Given the description of an element on the screen output the (x, y) to click on. 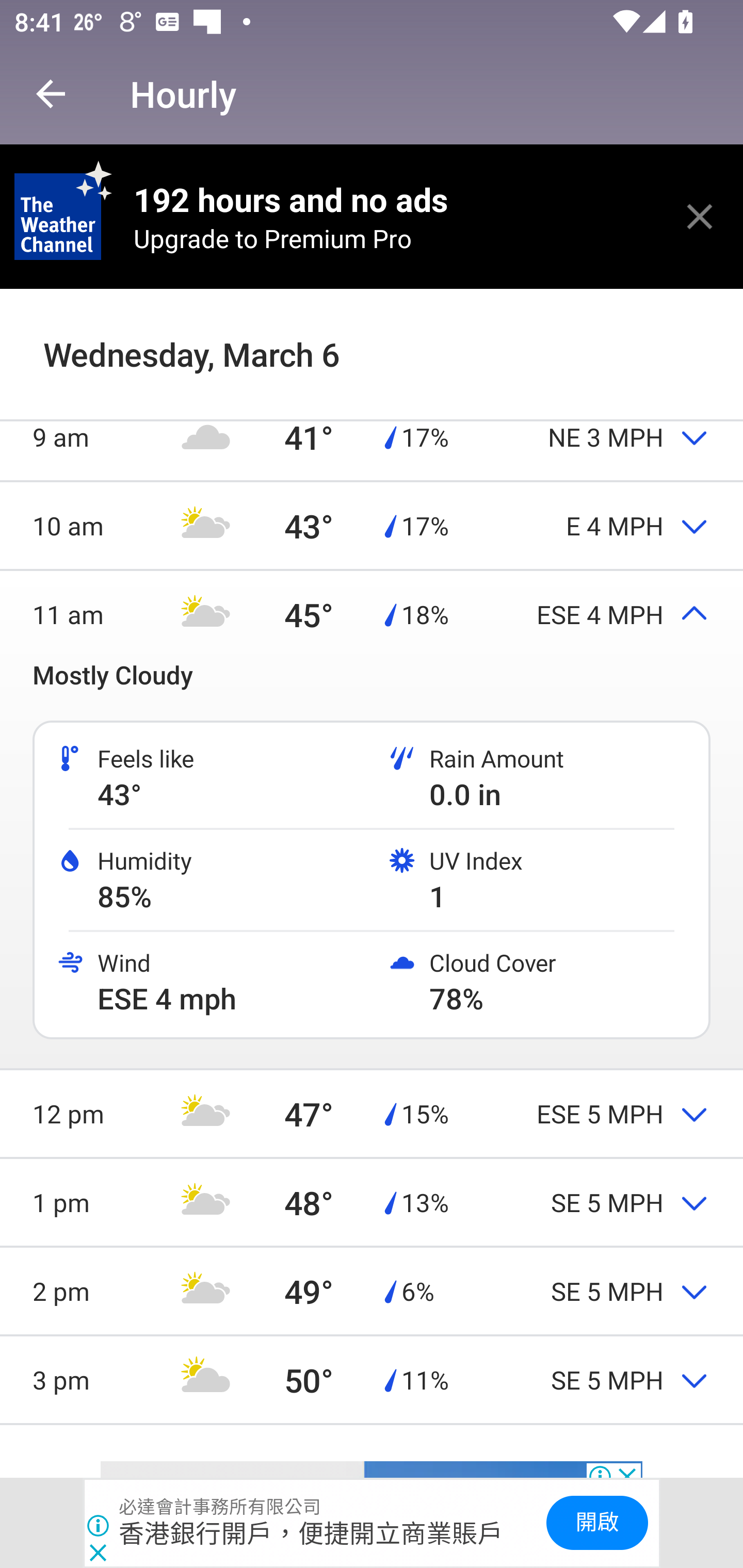
Navigate up (50, 93)
close this (699, 216)
8 am 40° 18% NNE 4 MPH (371, 348)
9 am 41° 17% NE 3 MPH (371, 436)
10 am 43° 17% E 4 MPH (371, 525)
11 am 45° 18% ESE 4 MPH (371, 613)
12 pm 47° 15% ESE 5 MPH (371, 1113)
1 pm 48° 13% SE 5 MPH (371, 1201)
2 pm 49° 6% SE 5 MPH (371, 1291)
3 pm 50° 11% SE 5 MPH (371, 1379)
必達會計事務所有限公司 (220, 1507)
開啟 (596, 1522)
香港銀行開戶，便捷開立商業賬戶 (311, 1533)
